Given the description of an element on the screen output the (x, y) to click on. 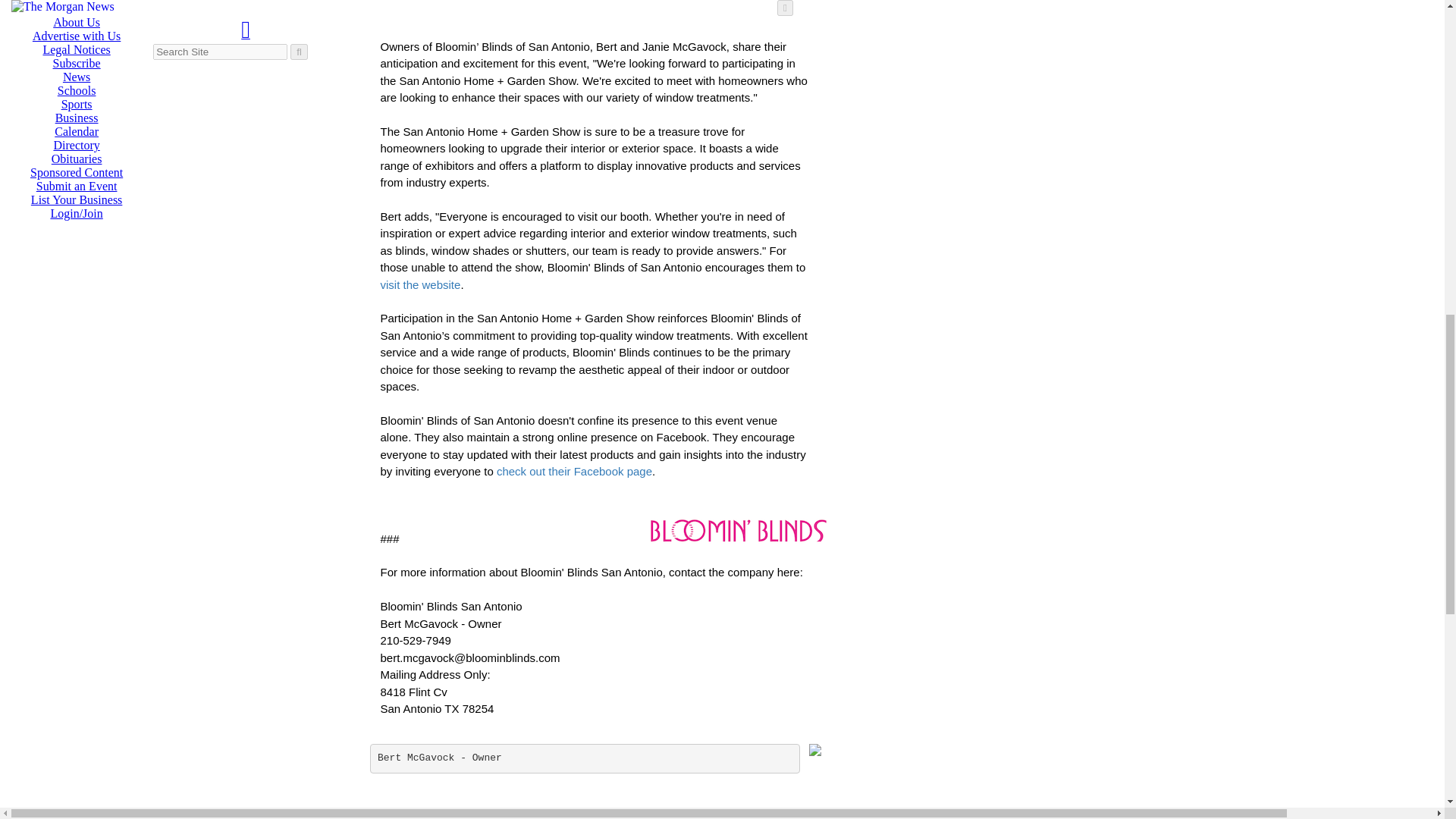
check out their Facebook page (574, 471)
visit the website (420, 284)
